Given the description of an element on the screen output the (x, y) to click on. 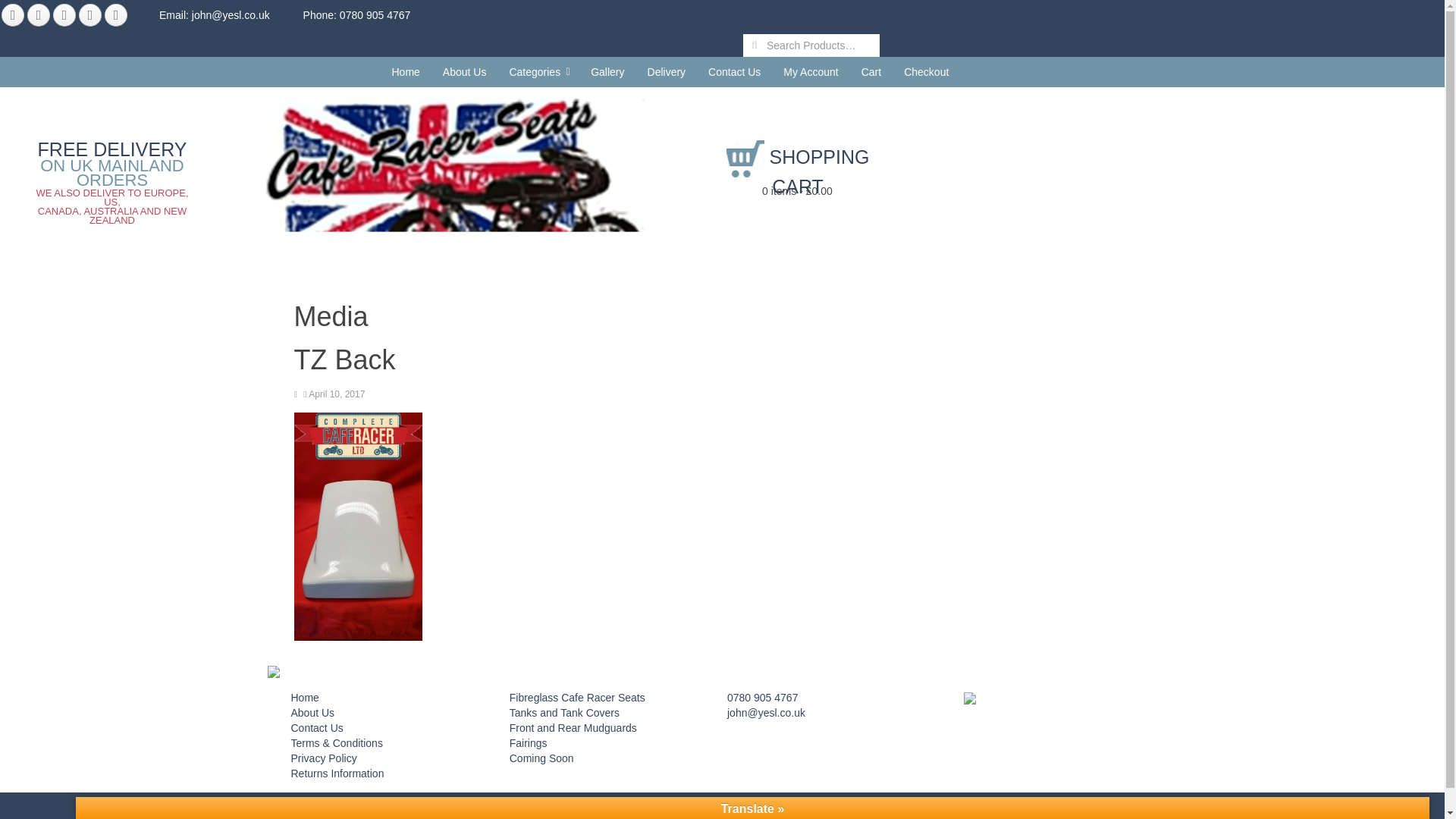
About Us (463, 71)
My Account (809, 71)
Home (405, 71)
SHOPPING CART (797, 171)
Gallery (606, 71)
Checkout (925, 71)
Phone: 0780 905 4767 (341, 15)
Contact Us (734, 71)
Delivery (666, 71)
Categories (538, 71)
